Given the description of an element on the screen output the (x, y) to click on. 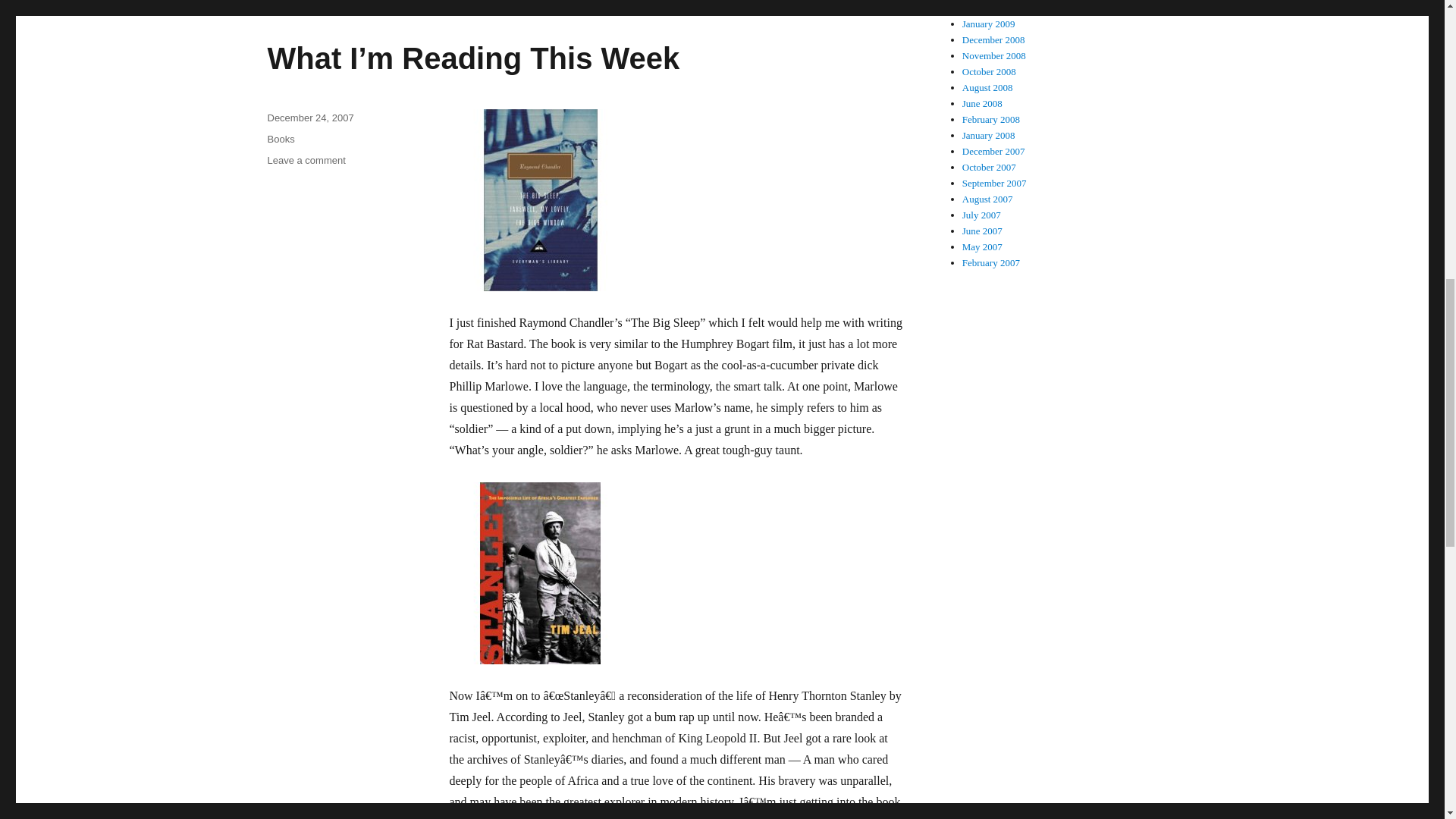
Books (280, 138)
December 24, 2007 (309, 117)
